Given the description of an element on the screen output the (x, y) to click on. 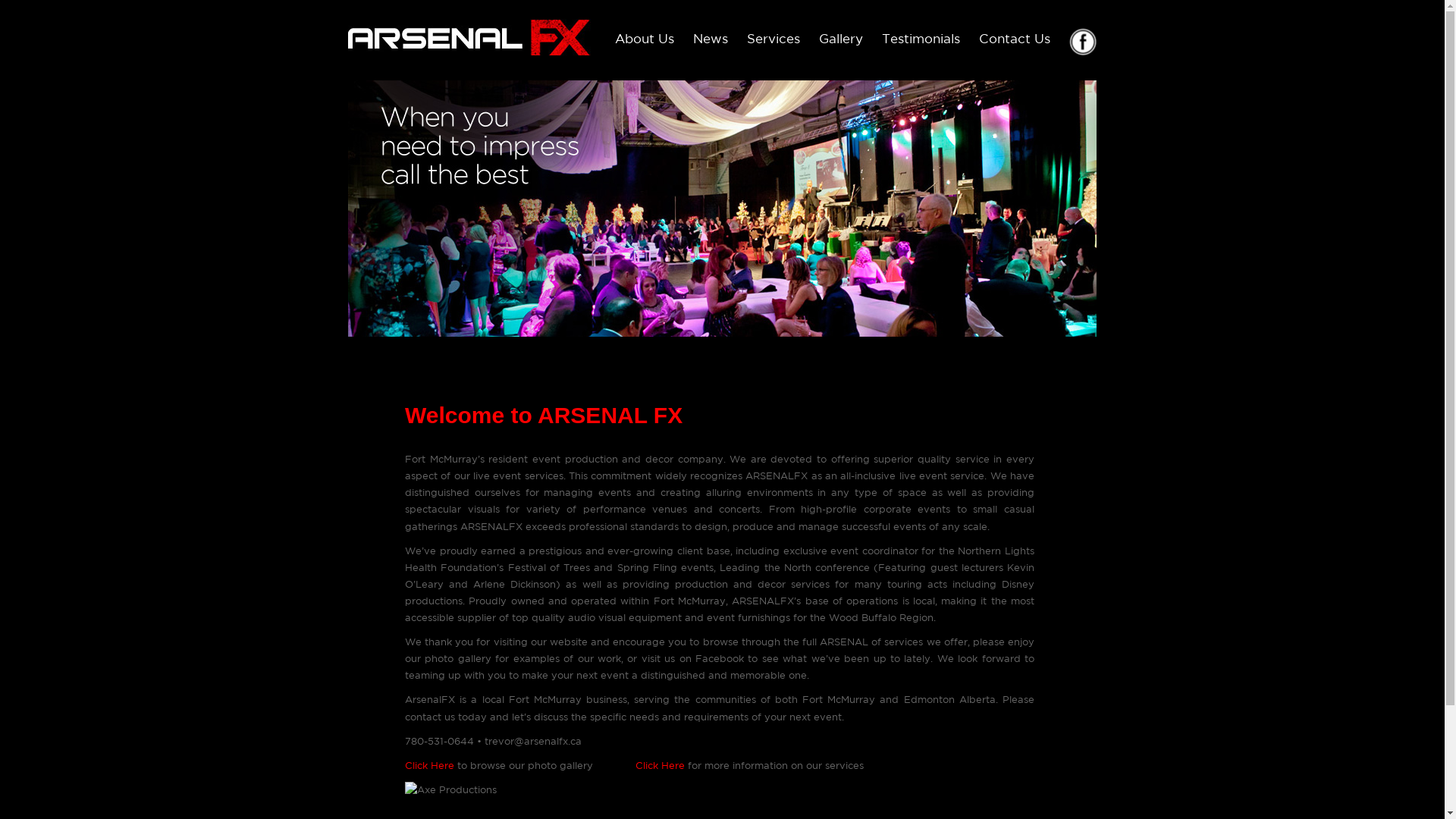
Testimonials Element type: text (920, 38)
Contact Us Element type: text (1014, 38)
News Element type: text (710, 38)
Click Here Element type: text (659, 765)
About Us Element type: text (644, 38)
Services Element type: text (773, 38)
Gallery Element type: text (840, 38)
Click Here Element type: text (429, 765)
